Given the description of an element on the screen output the (x, y) to click on. 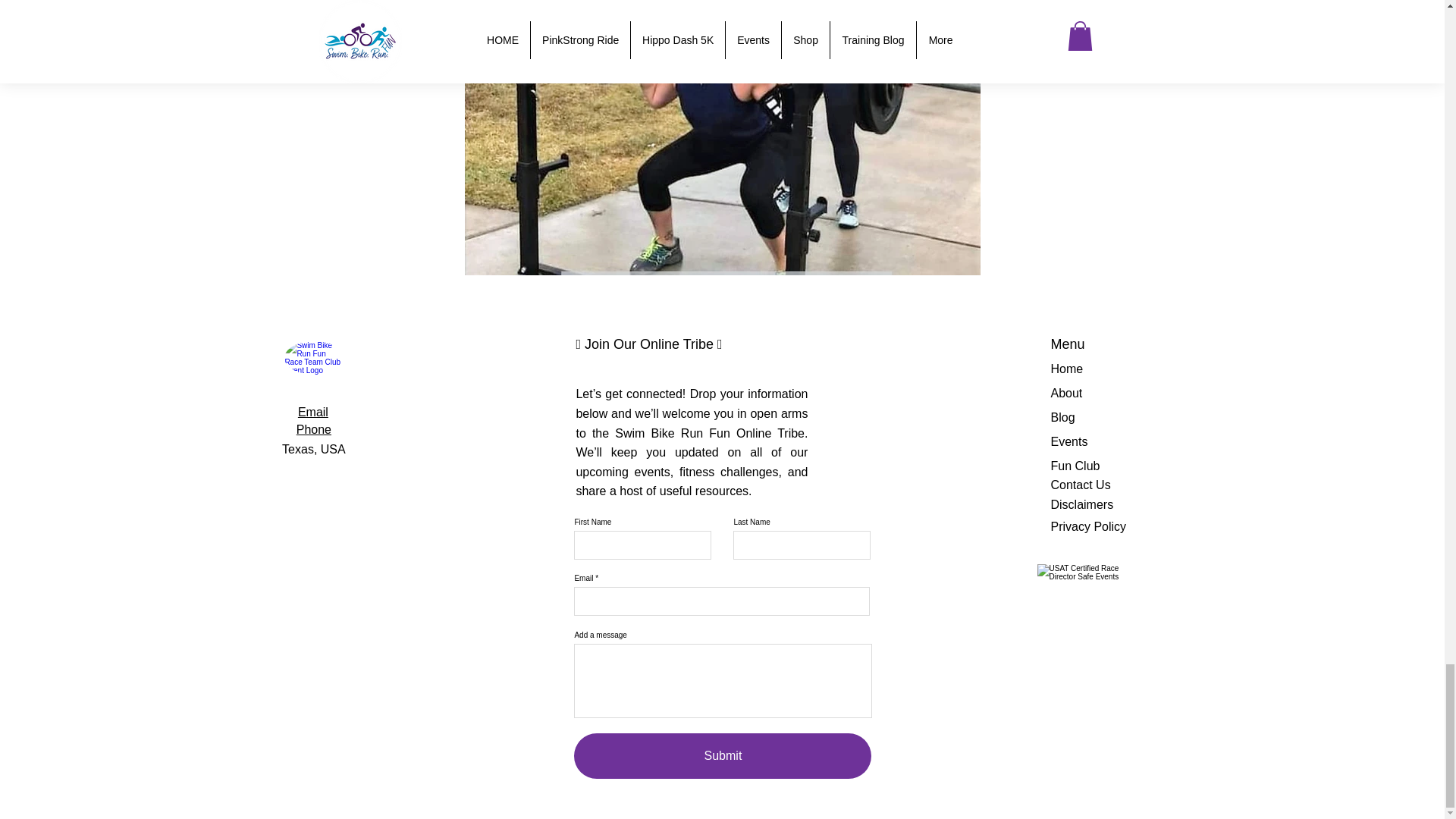
Fun Club (1075, 465)
About (1067, 392)
Home (1067, 368)
Contact Us (1080, 484)
Blog (1063, 417)
Email (313, 411)
Events (1069, 440)
Phone (314, 429)
Privacy Policy (1088, 526)
Submit (721, 755)
Disclaimers (1082, 504)
USAT Certified Race Director Safe Events (1091, 597)
